Given the description of an element on the screen output the (x, y) to click on. 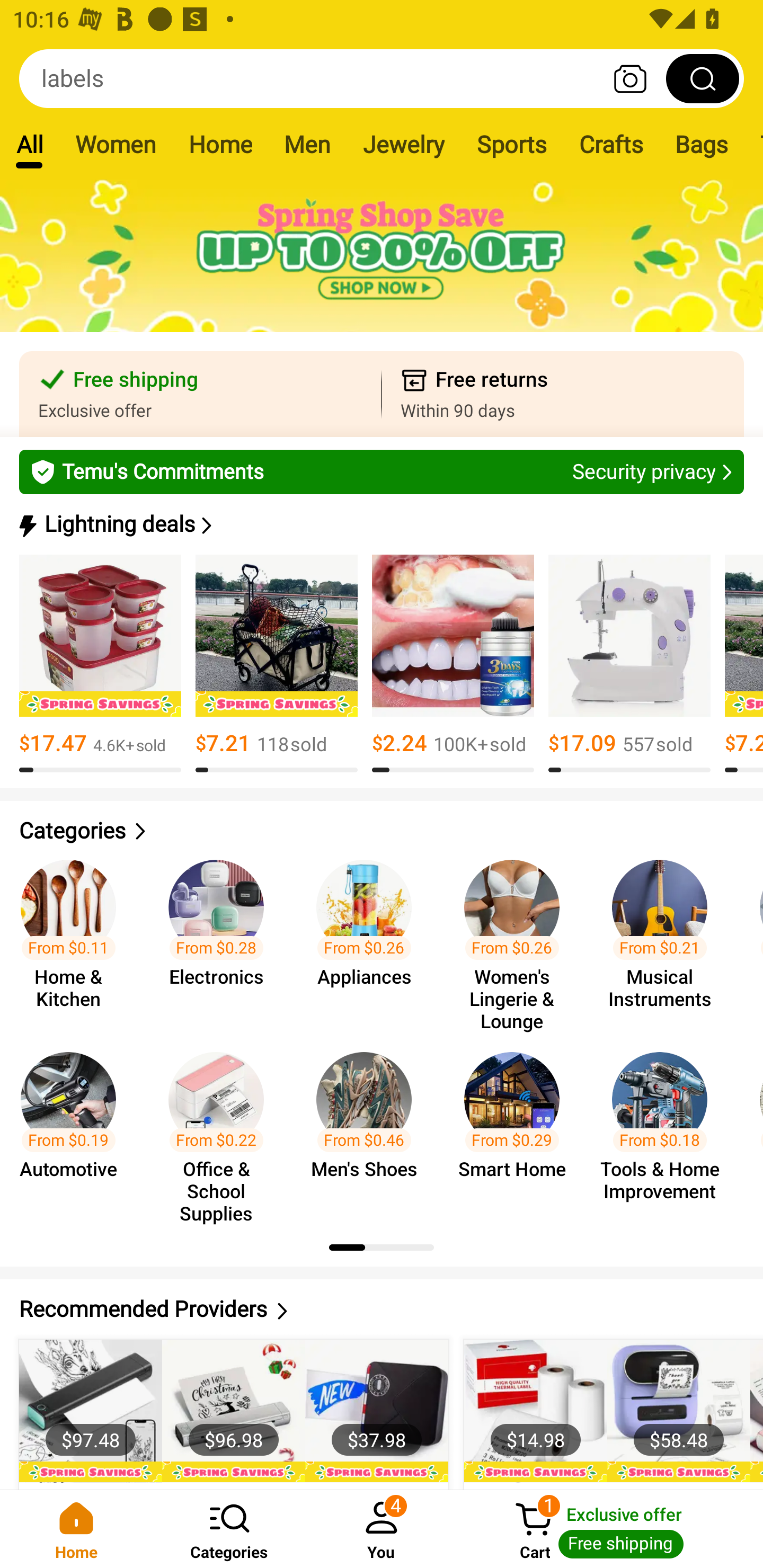
labels (381, 78)
All (29, 144)
Women (115, 144)
Home (219, 144)
Men (306, 144)
Jewelry (403, 144)
Sports (511, 144)
Crafts (611, 144)
Bags (701, 144)
Free shipping Exclusive offer (200, 394)
Free returns Within 90 days (562, 394)
Temu's Commitments (381, 471)
Lightning deals (379, 524)
$17.47 4.6K+￼sold 9.0 (100, 664)
$7.21 118￼sold 8.0 (276, 664)
$2.24 100K+￼sold 11.0 (453, 664)
$17.09 557￼sold 8.0 (629, 664)
Categories (381, 830)
From $0.11 Home & Kitchen (74, 936)
From $0.28 Electronics (222, 936)
From $0.26 Appliances (369, 936)
From $0.26 Women's Lingerie & Lounge (517, 936)
From $0.21 Musical Instruments (665, 936)
From $0.19 Automotive (74, 1128)
From $0.22 Office & School Supplies (222, 1128)
From $0.46 Men's Shoes (369, 1128)
From $0.29 Smart Home (517, 1128)
From $0.18 Tools & Home Improvement (665, 1128)
Recommended Providers (381, 1309)
Home (76, 1528)
Categories (228, 1528)
You 4 You (381, 1528)
Cart 1 Cart Exclusive offer (610, 1528)
